Given the description of an element on the screen output the (x, y) to click on. 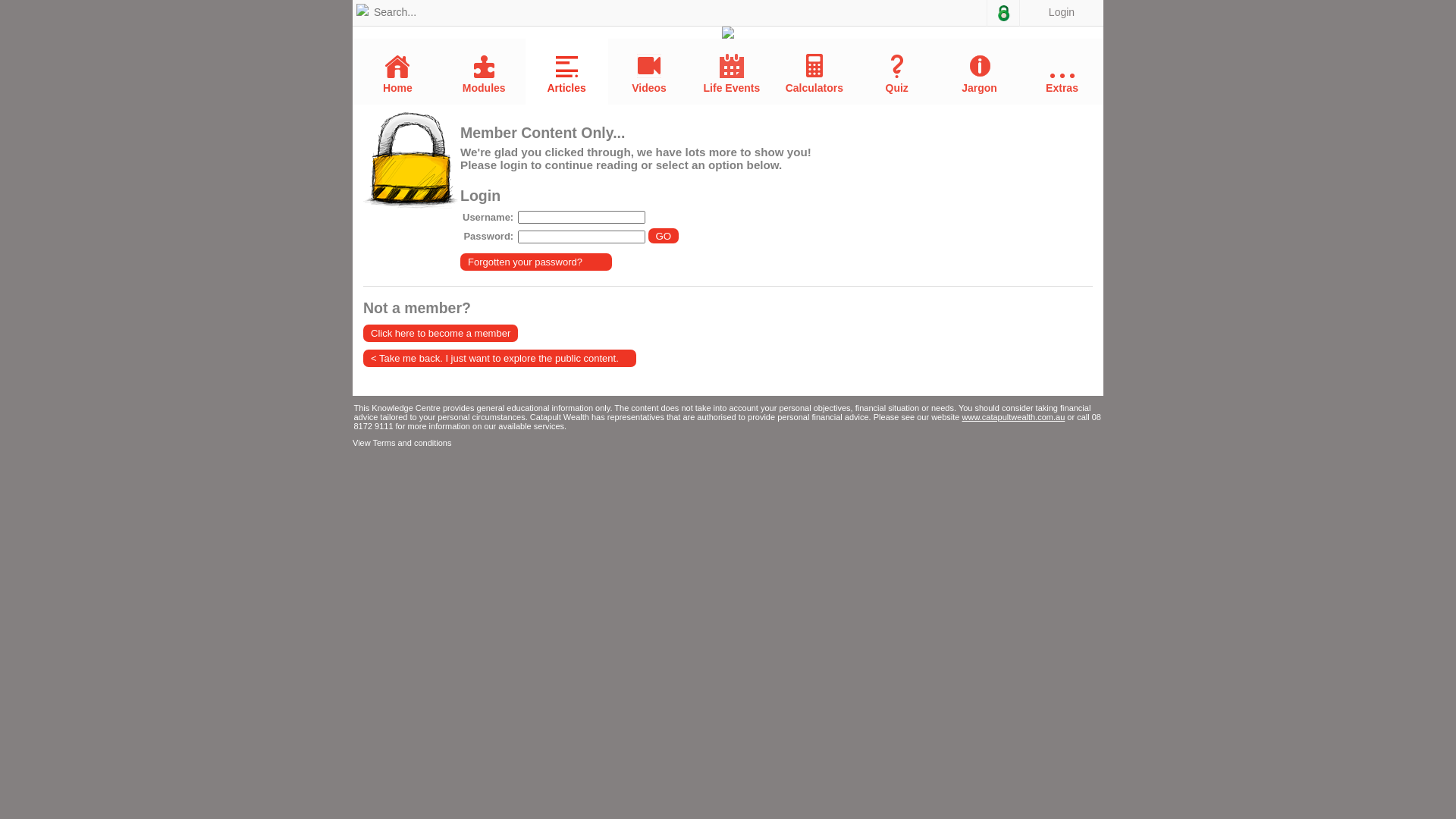
< Take me back. I just want to explore the public content. Element type: text (499, 358)
Click here to become a member Element type: text (440, 333)
Modules Element type: text (483, 73)
Forgotten your password? Element type: text (535, 261)
Life Events Element type: text (731, 73)
GO Element type: text (663, 235)
Quiz Element type: text (896, 73)
www.catapultwealth.com.au Element type: text (1013, 416)
Home Element type: text (397, 73)
Articles Element type: text (566, 74)
View Terms and conditions Element type: text (401, 442)
Jargon Element type: text (979, 73)
Videos Element type: text (649, 73)
Calculators Element type: text (813, 73)
Extras Element type: text (1061, 83)
